Given the description of an element on the screen output the (x, y) to click on. 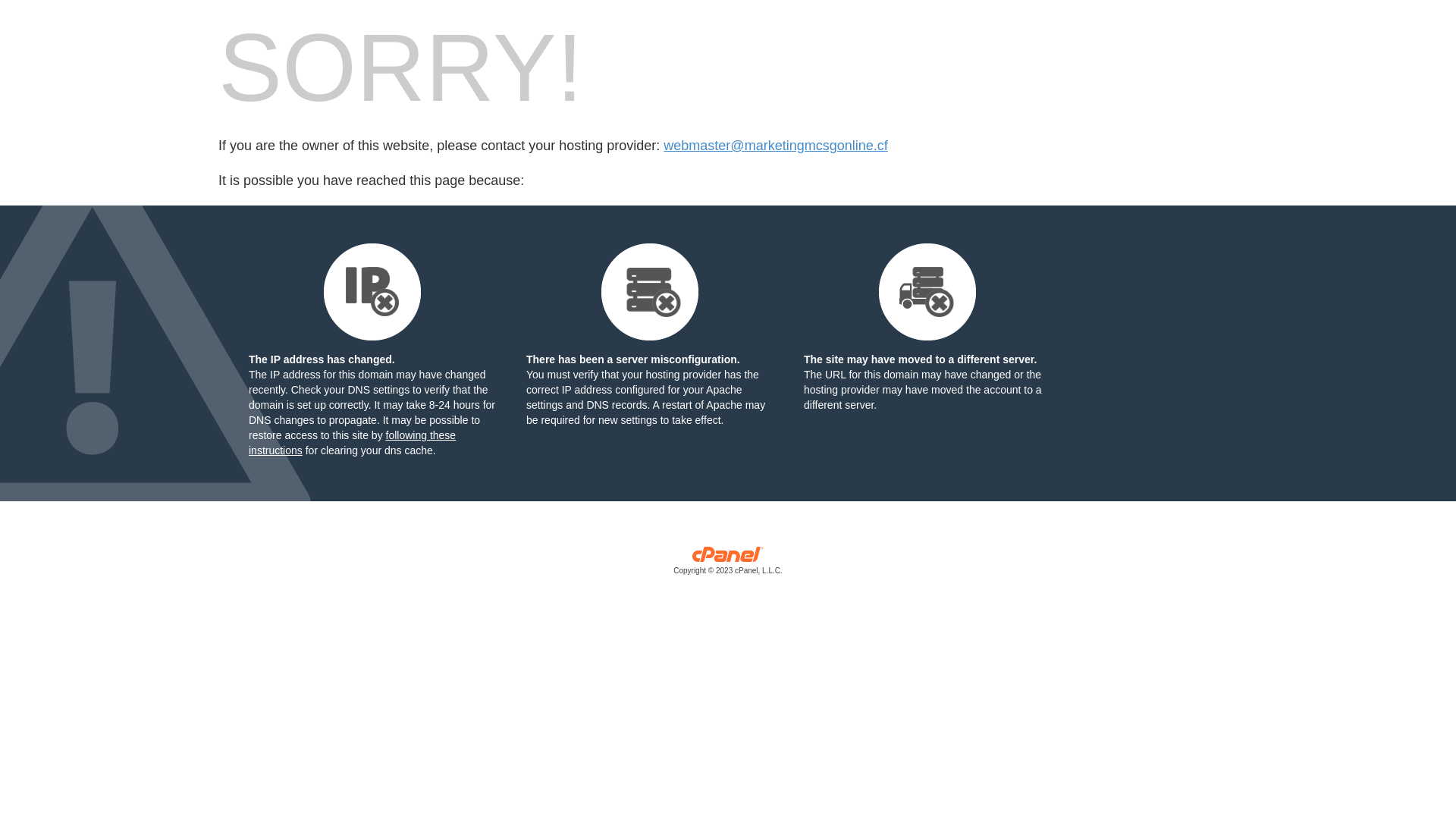
webmaster@marketingmcsgonline.cf Element type: text (775, 145)
following these instructions Element type: text (351, 442)
